Given the description of an element on the screen output the (x, y) to click on. 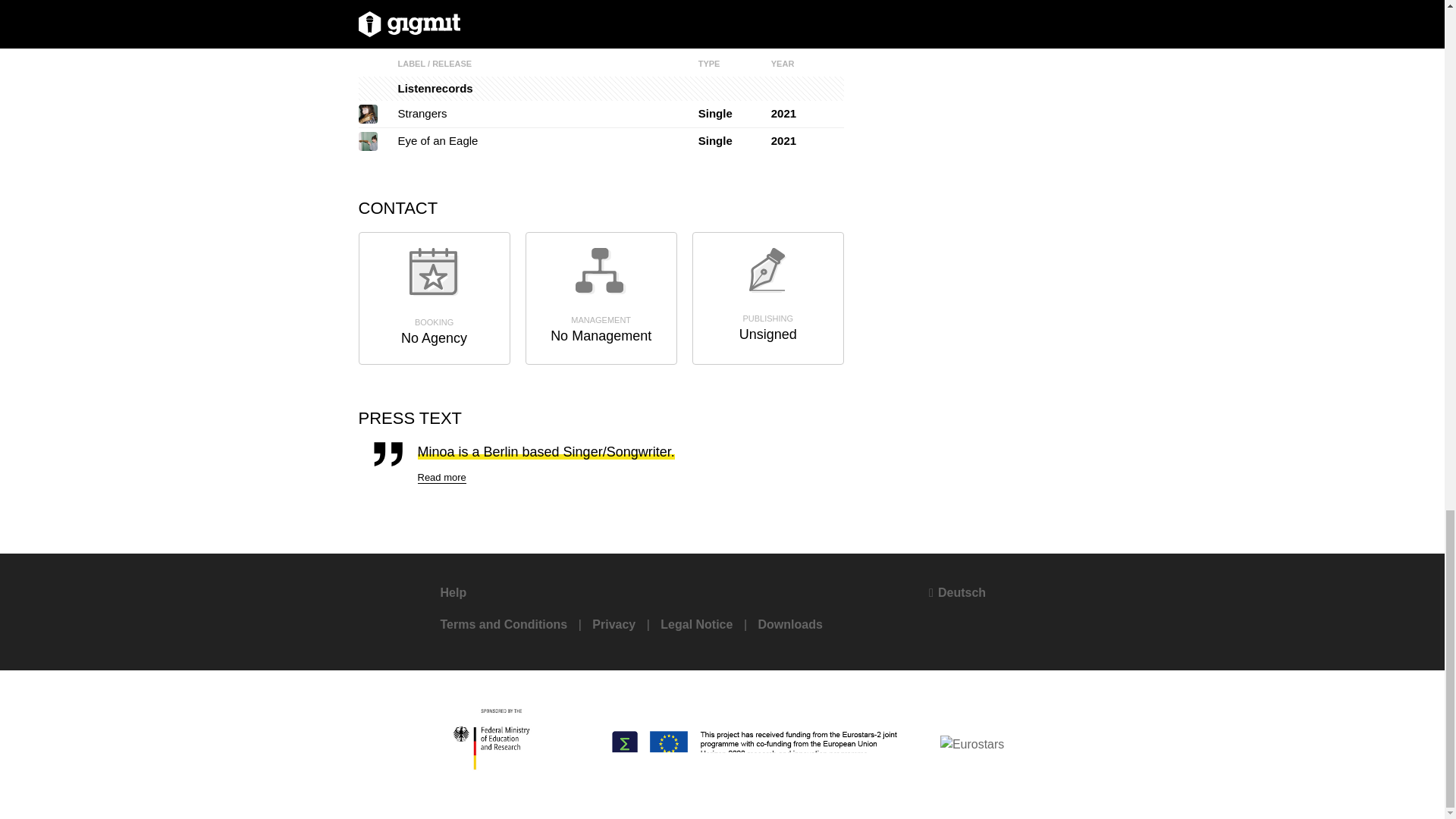
Privacy (613, 623)
Legal Notice (696, 623)
Downloads (789, 623)
Terms and Conditions (503, 623)
Help (452, 591)
Deutsch (956, 591)
